Given the description of an element on the screen output the (x, y) to click on. 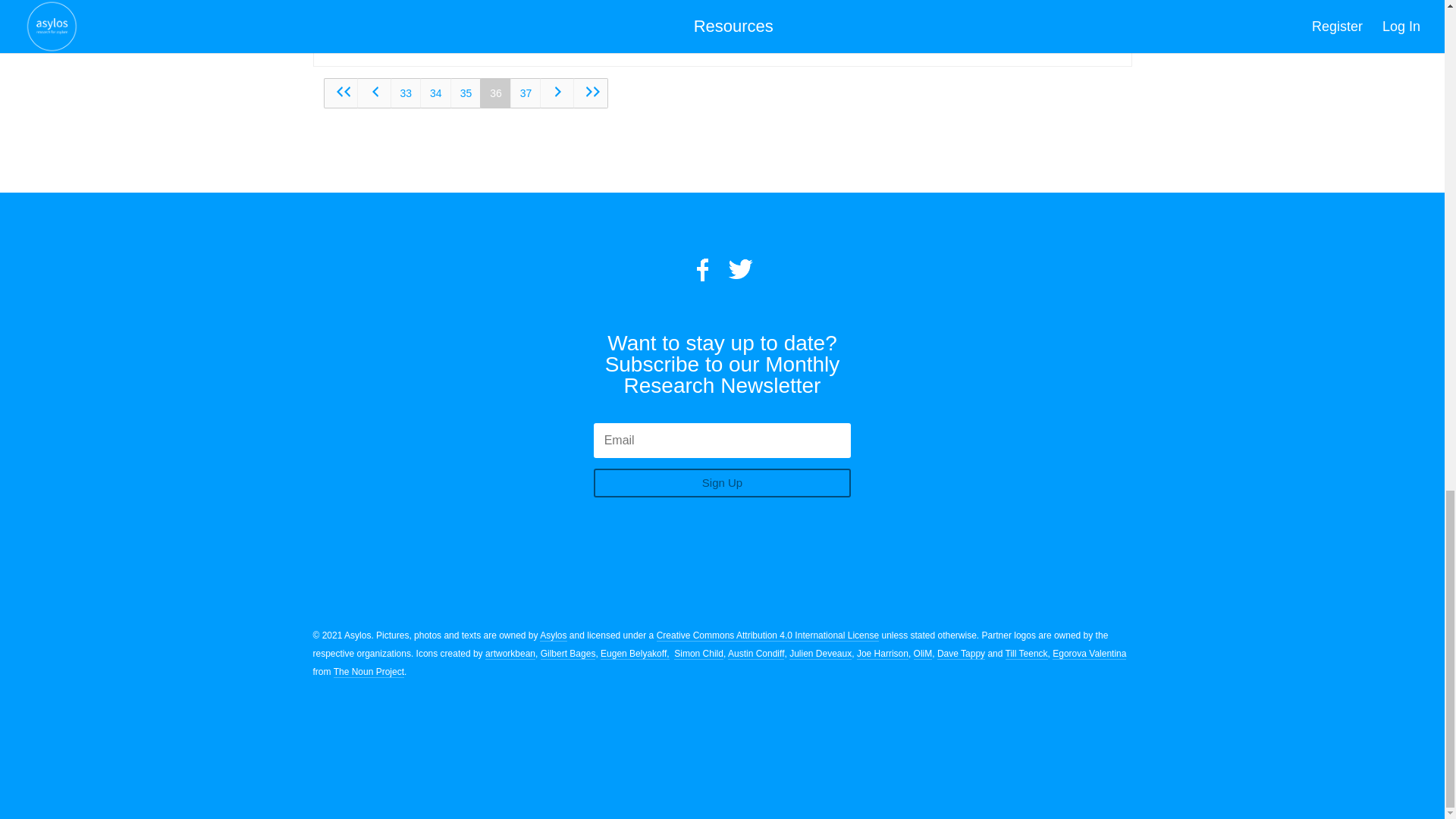
Next (557, 92)
Last (590, 92)
Previous (373, 92)
First (340, 92)
